Given the description of an element on the screen output the (x, y) to click on. 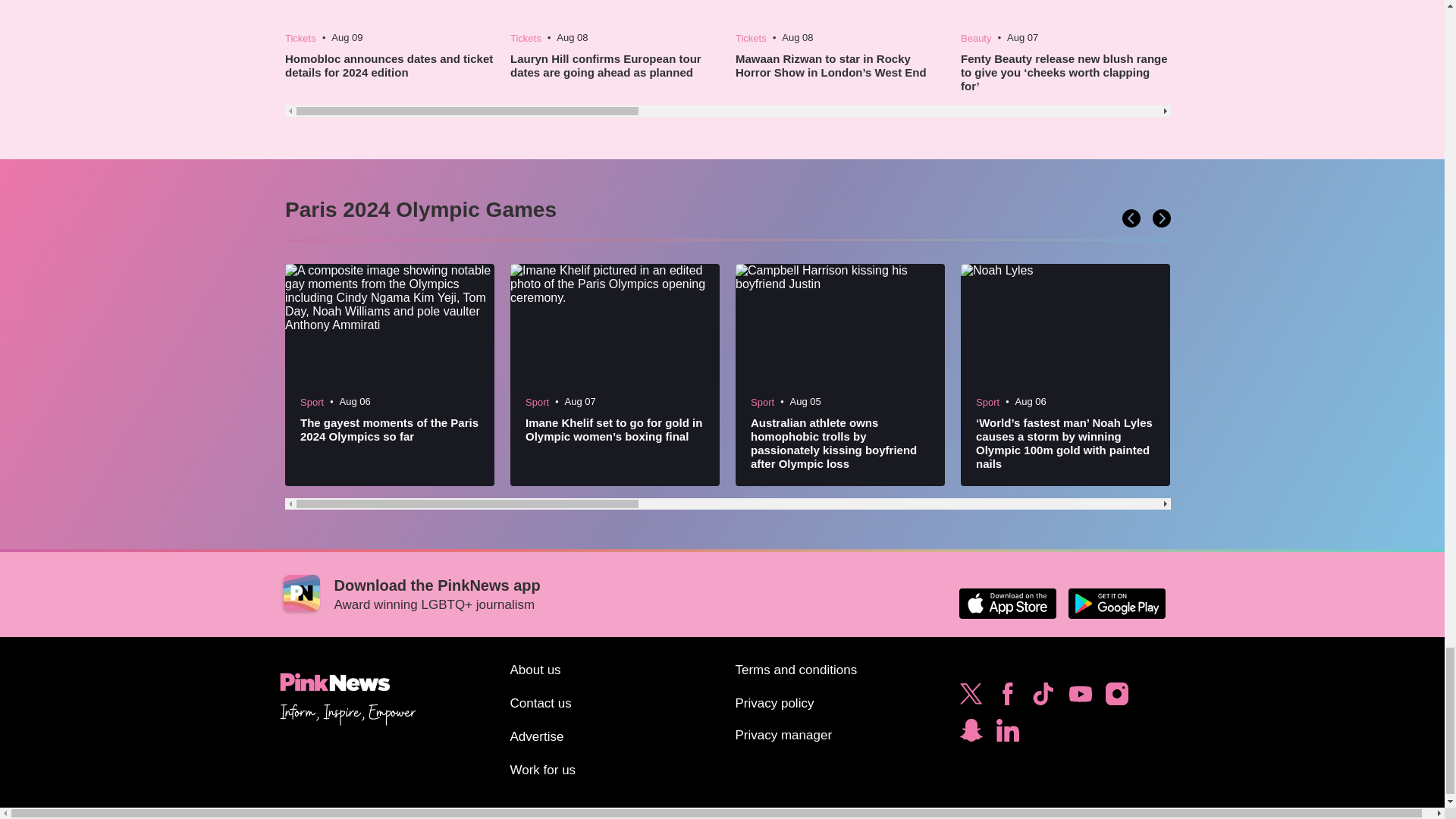
Follow PinkNews on Instagram (1116, 697)
Follow PinkNews on Twitter (970, 697)
Follow PinkNews on TikTok (1042, 697)
Follow PinkNews on LinkedIn (1007, 733)
Download the PinkNews app on Google Play (1115, 603)
Download the PinkNews app on the Apple App Store (1006, 603)
Subscribe to PinkNews on Snapchat (970, 733)
Subscribe to PinkNews on YouTube (1079, 697)
